Given the description of an element on the screen output the (x, y) to click on. 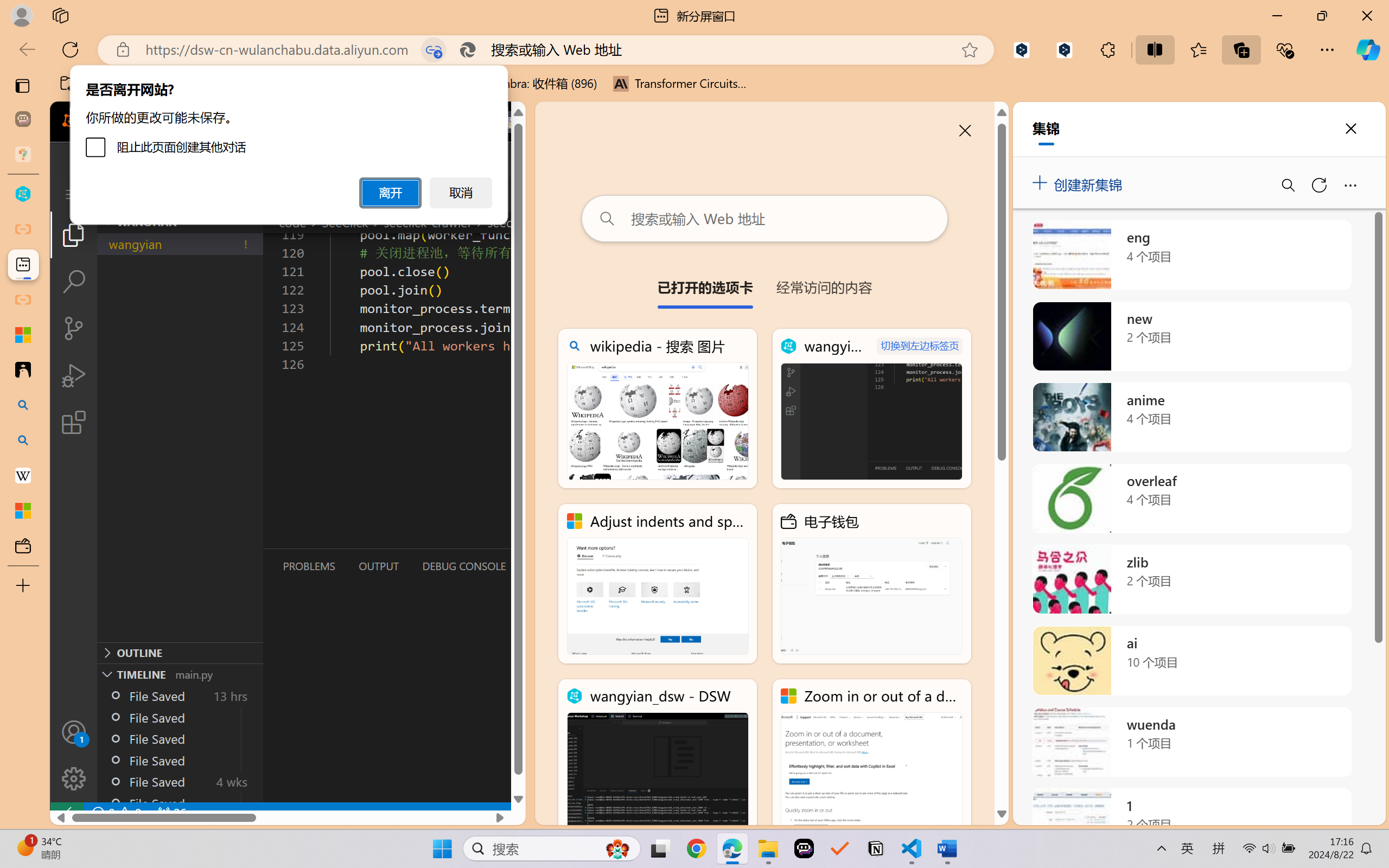
Group (380, 46)
Czech (detected) (1256, 136)
Translator (1377, 132)
Subtitle Settings (479, 71)
Slide Title (258, 62)
